Given the description of an element on the screen output the (x, y) to click on. 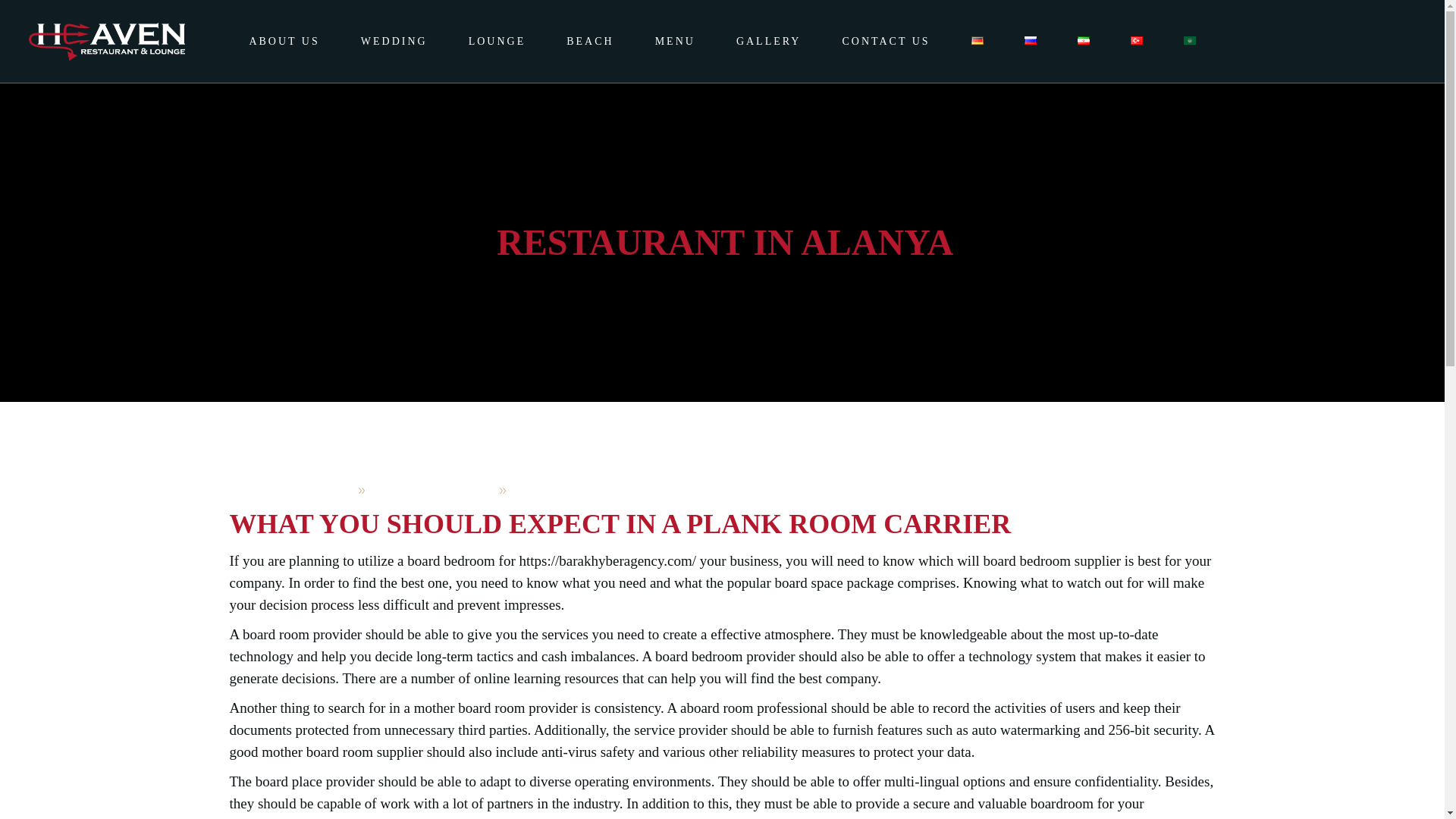
Genel (531, 489)
LOUNGE (497, 40)
BEACH (589, 40)
WEDDING (394, 40)
ABOUT US (283, 40)
GALLERY (769, 40)
CONTACT US (885, 40)
Heaven Restaurant (289, 489)
September 1, 2022 (432, 489)
MENU (675, 40)
